Given the description of an element on the screen output the (x, y) to click on. 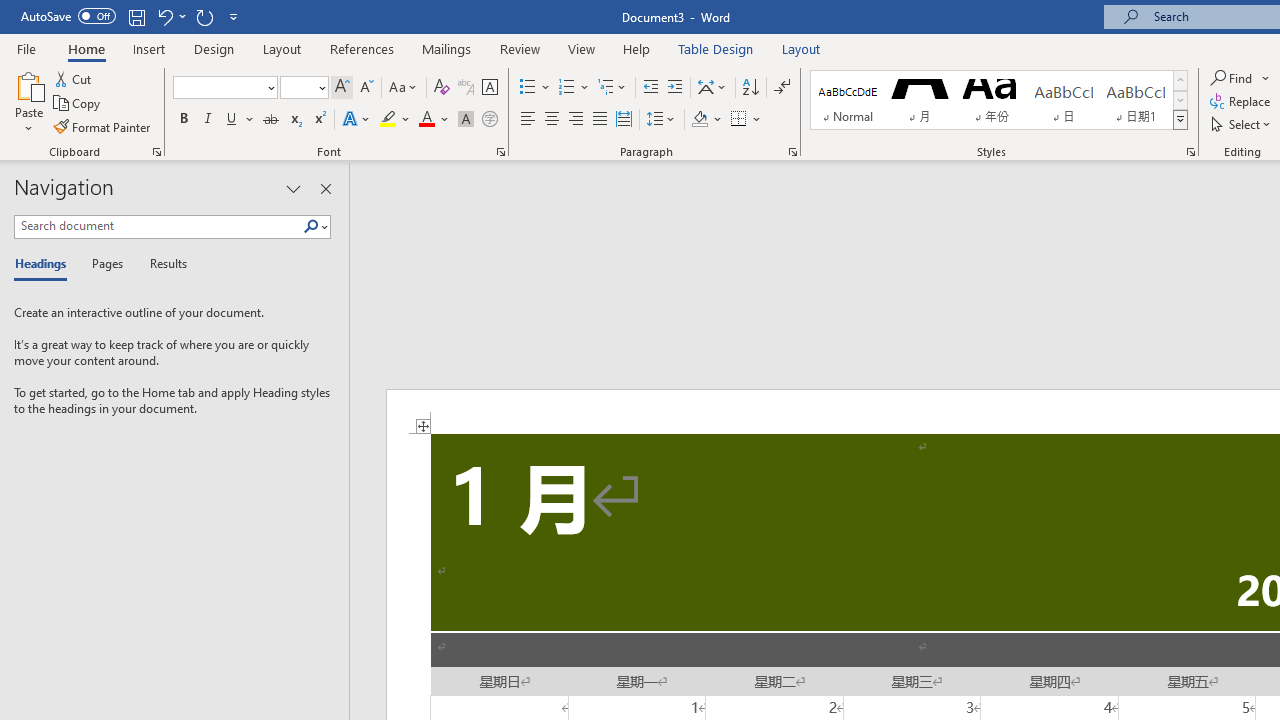
AutomationID: QuickStylesGallery (999, 99)
